Given the description of an element on the screen output the (x, y) to click on. 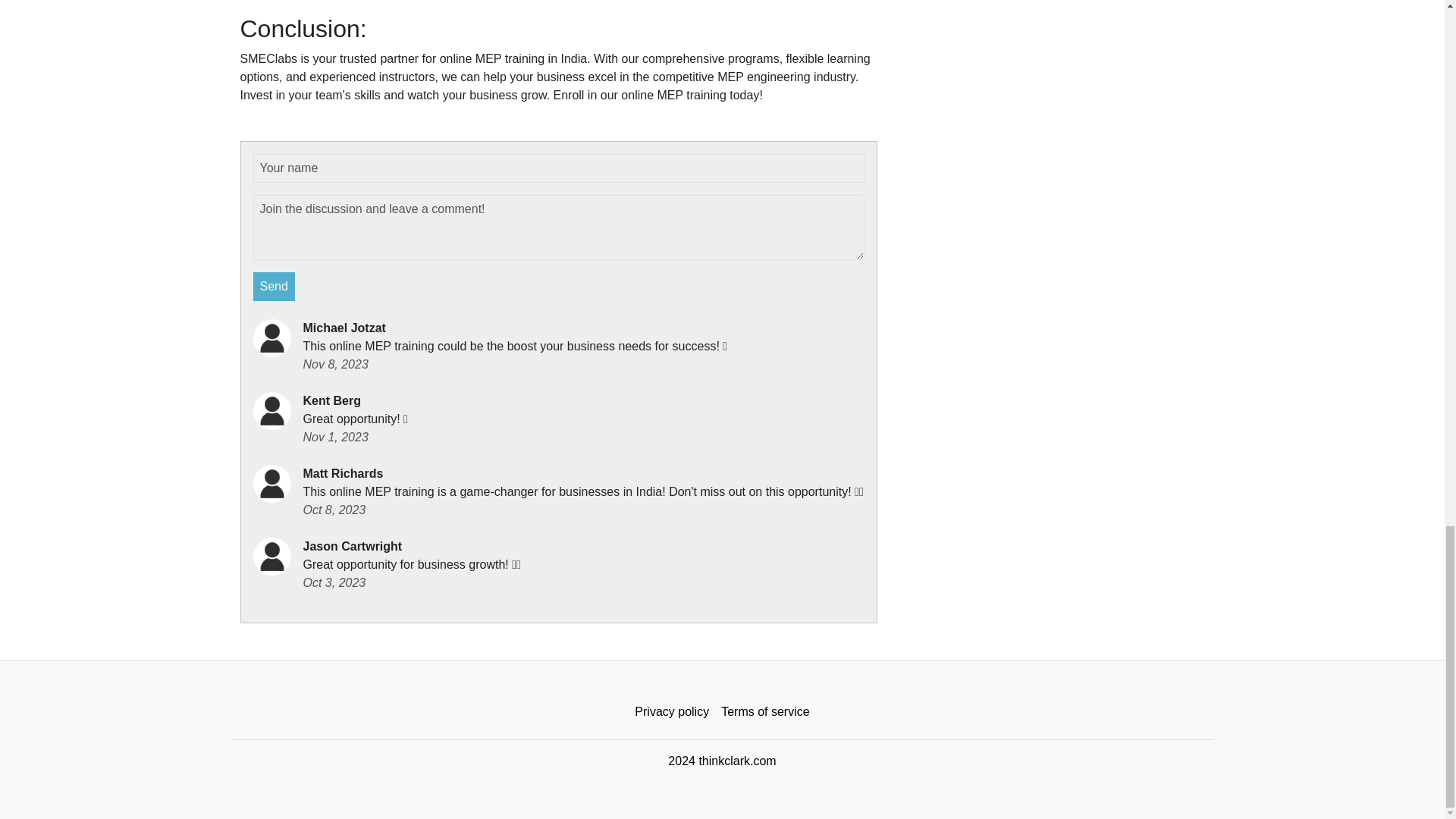
Terms of service (764, 711)
Privacy policy (671, 711)
Send (274, 286)
Send (274, 286)
